Given the description of an element on the screen output the (x, y) to click on. 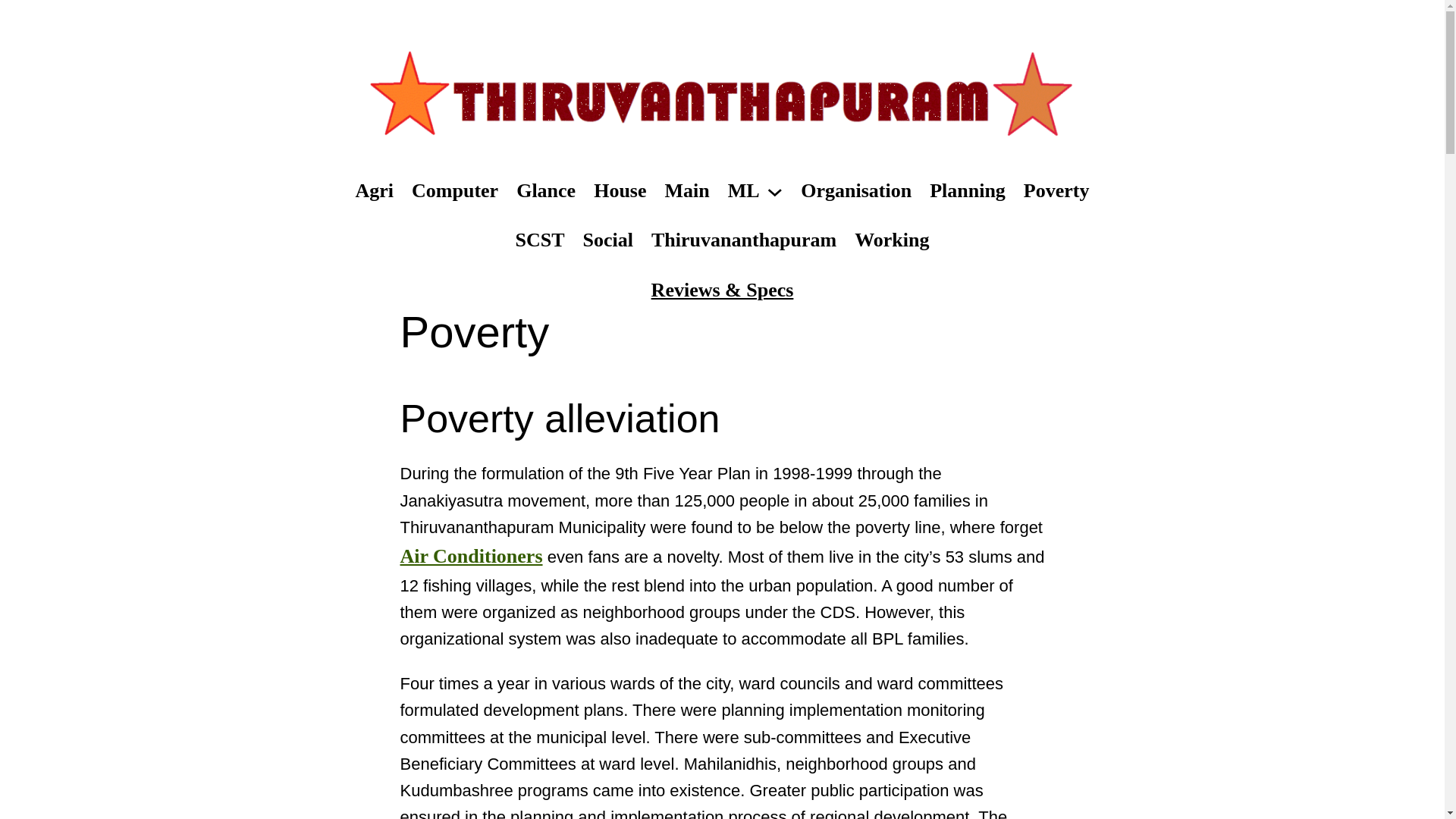
Main (686, 191)
ML (744, 191)
Computer (454, 191)
Working (891, 240)
Glance (545, 191)
Organisation (855, 191)
Thiruvananthapuram (742, 240)
House (620, 191)
Planning (968, 191)
Agri (374, 191)
Social (608, 240)
Air Conditioners (471, 556)
SCST (539, 240)
Poverty (1056, 191)
